Given the description of an element on the screen output the (x, y) to click on. 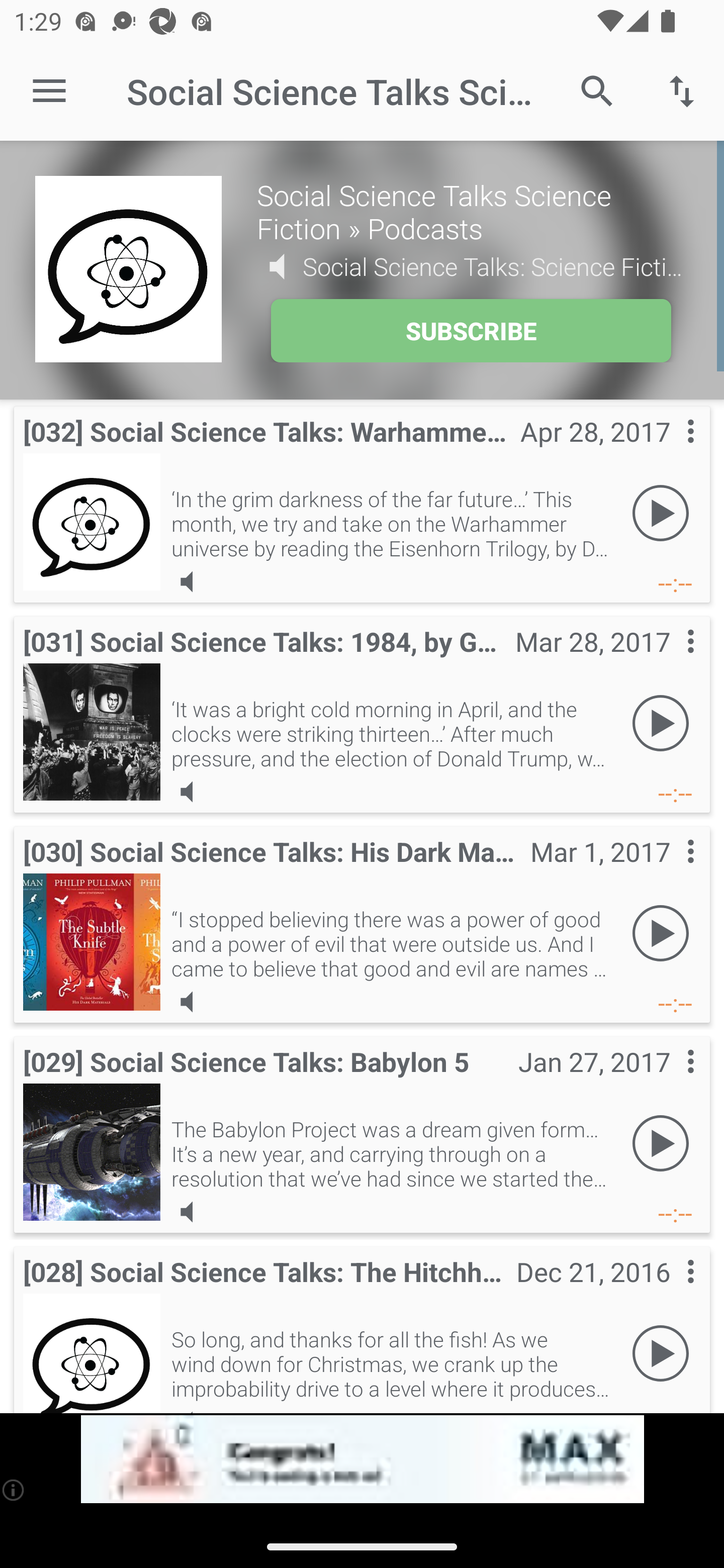
Open navigation sidebar (49, 91)
Search (597, 90)
Sort (681, 90)
SUBSCRIBE (470, 330)
Contextual menu (668, 451)
Play (660, 513)
Contextual menu (668, 661)
Play (660, 723)
Contextual menu (668, 870)
Play (660, 933)
Contextual menu (668, 1080)
Play (660, 1143)
Contextual menu (668, 1290)
Play (660, 1353)
app-monetization (362, 1459)
(i) (14, 1489)
